Given the description of an element on the screen output the (x, y) to click on. 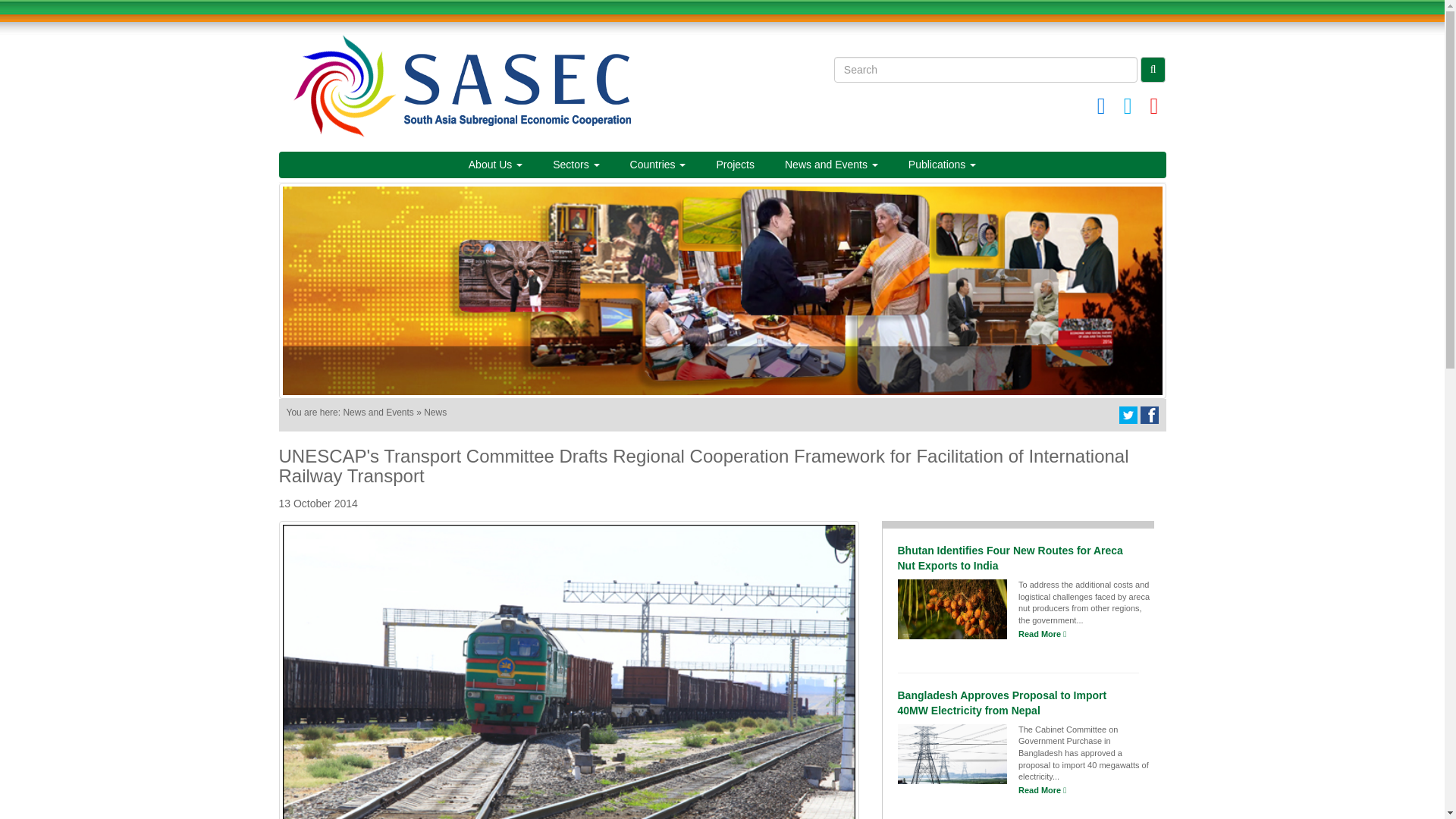
Sectors (575, 164)
About Us (494, 164)
Countries (657, 164)
